Given the description of an element on the screen output the (x, y) to click on. 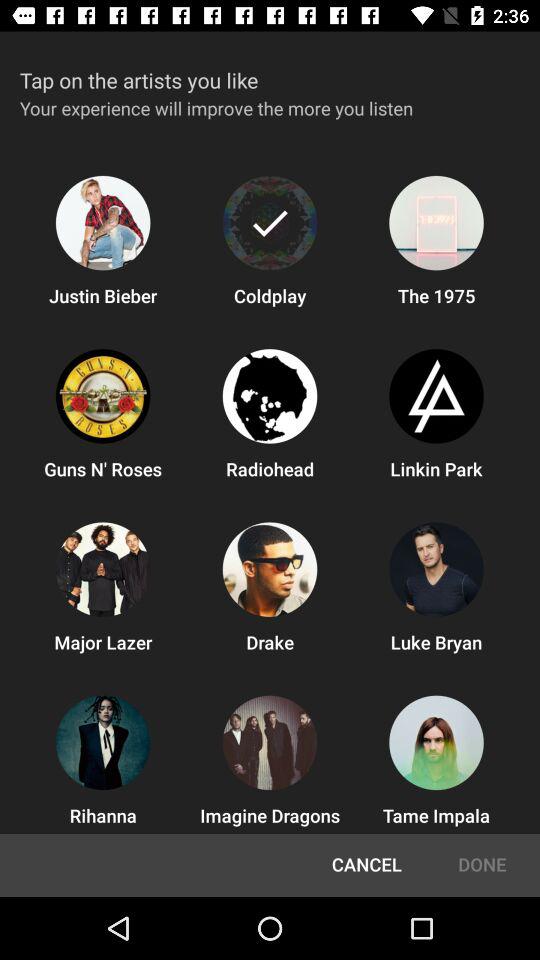
press the item to the left of done (366, 865)
